Given the description of an element on the screen output the (x, y) to click on. 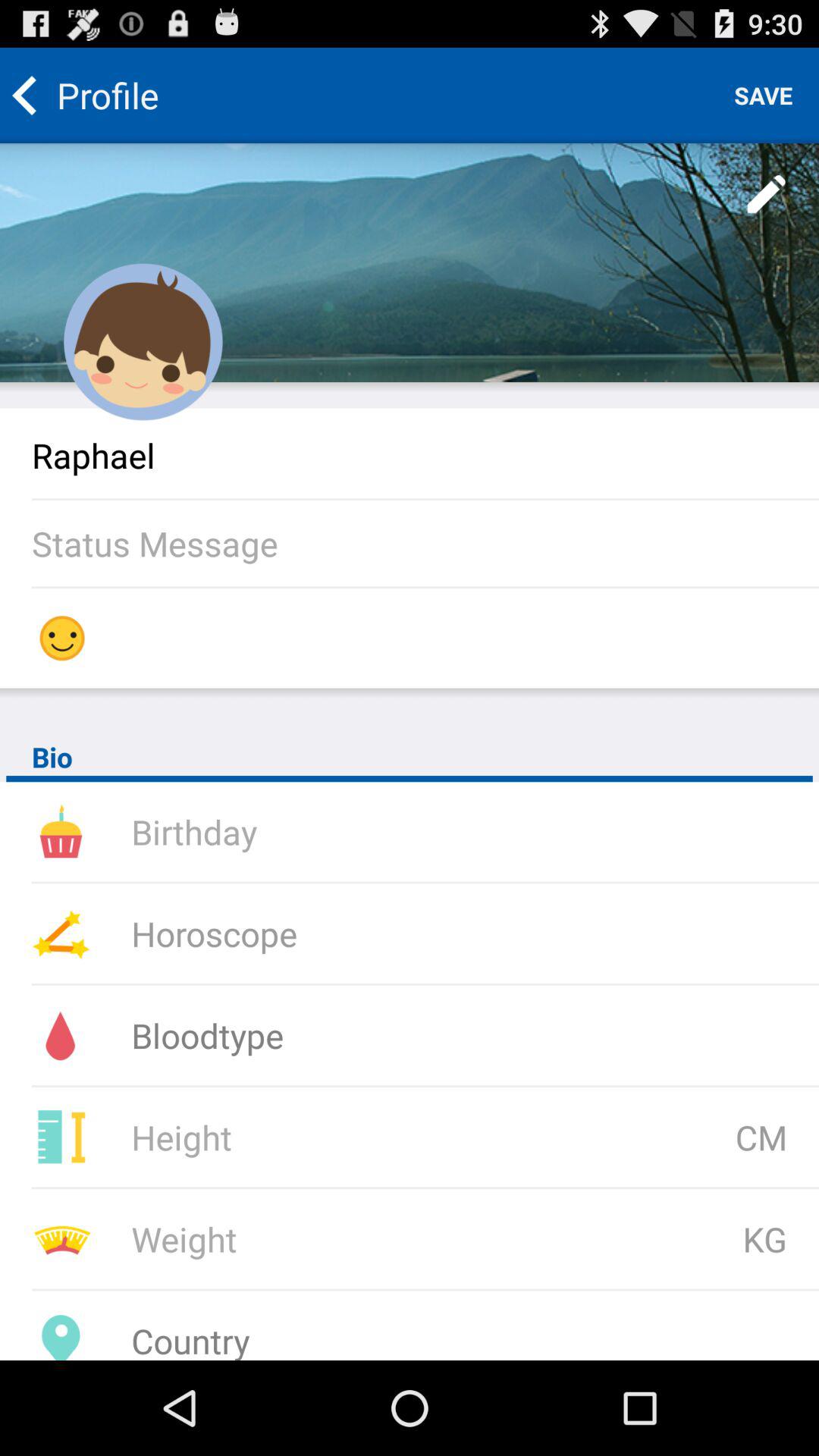
change landscape profile picture (409, 262)
